Given the description of an element on the screen output the (x, y) to click on. 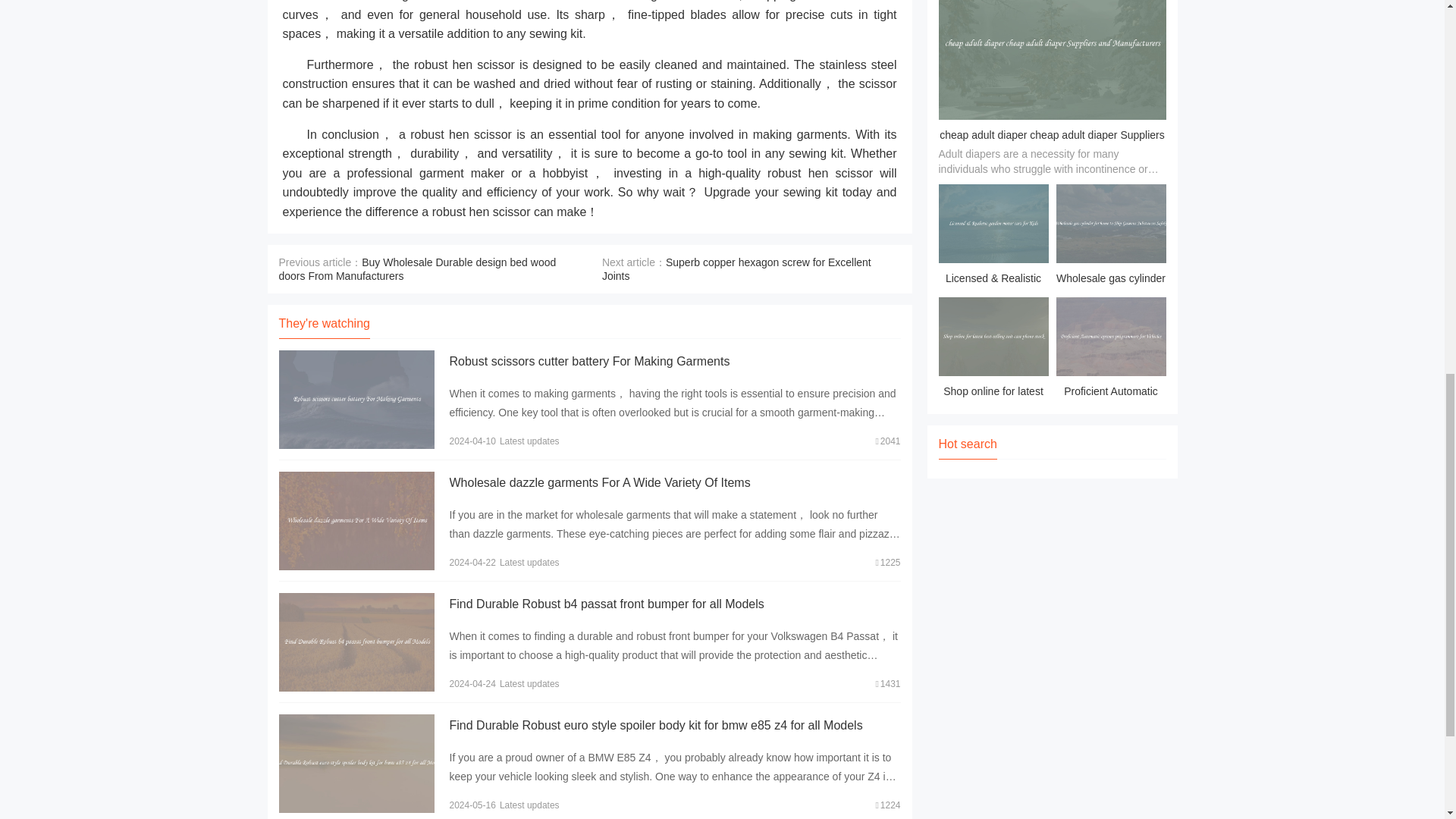
Wholesale dazzle garments For A Wide Variety Of Items (598, 481)
Find Durable Robust b4 passat front bumper for all Models (605, 603)
Superb copper hexagon screw for Excellent Joints (736, 268)
Shop online for latest best-selling suit case phone stock (993, 349)
Robust scissors cutter battery For Making Garments (588, 360)
Proficient Automatic eproms programmers for Vehicles (1110, 349)
